Given the description of an element on the screen output the (x, y) to click on. 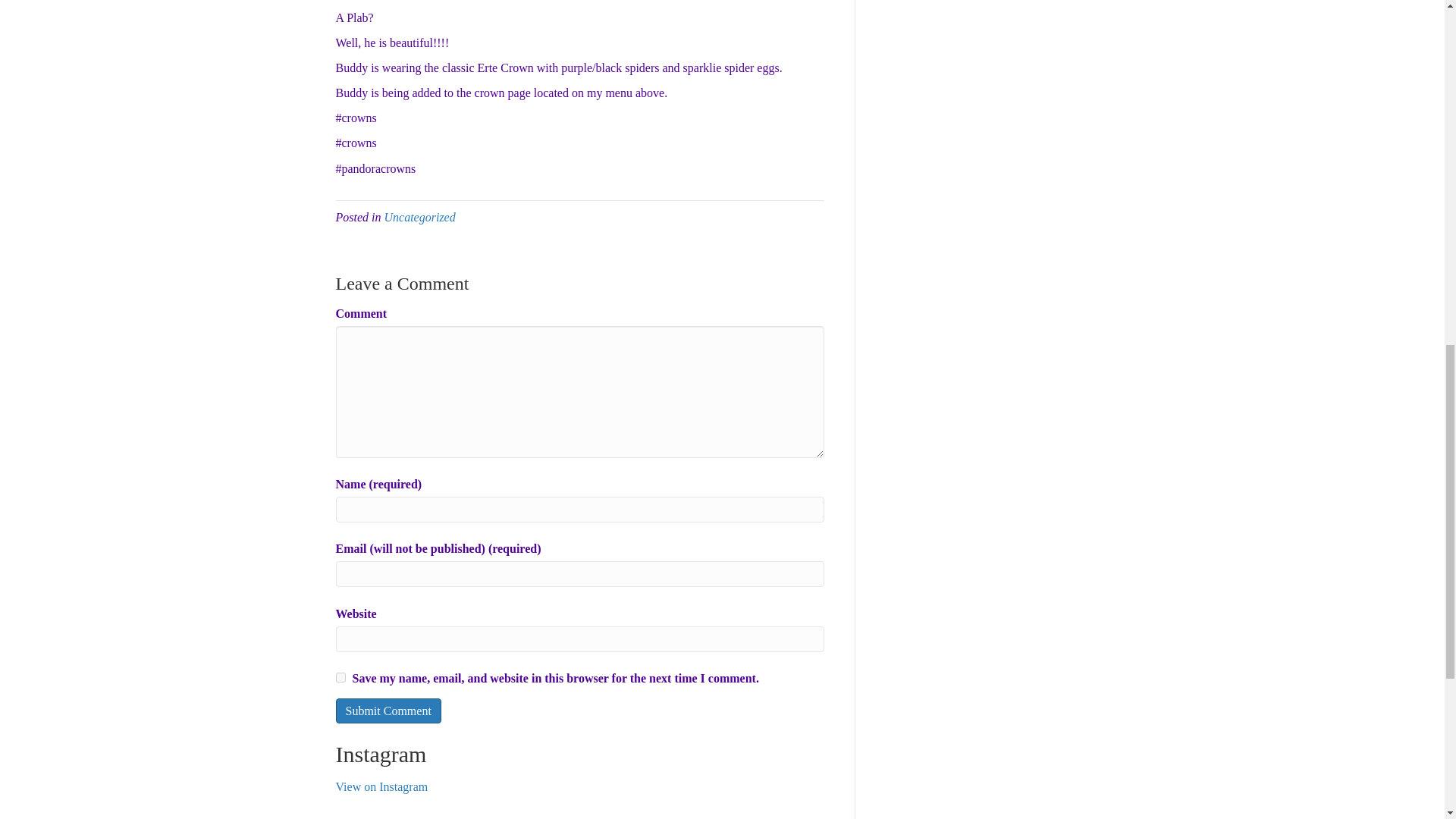
yes (339, 677)
Submit Comment (387, 710)
Submit Comment (387, 710)
Uncategorized (419, 216)
